Given the description of an element on the screen output the (x, y) to click on. 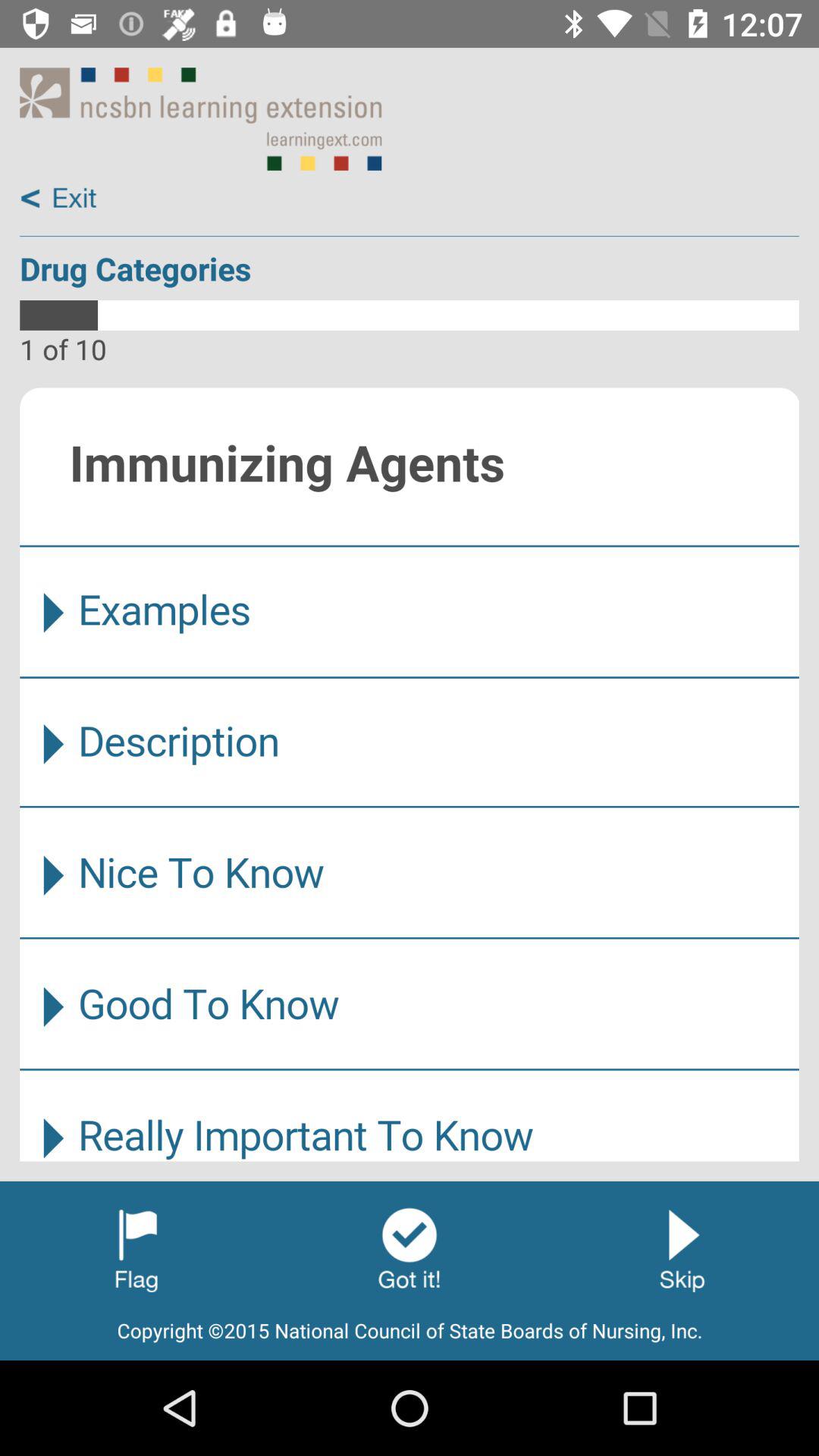
exit (58, 198)
